Given the description of an element on the screen output the (x, y) to click on. 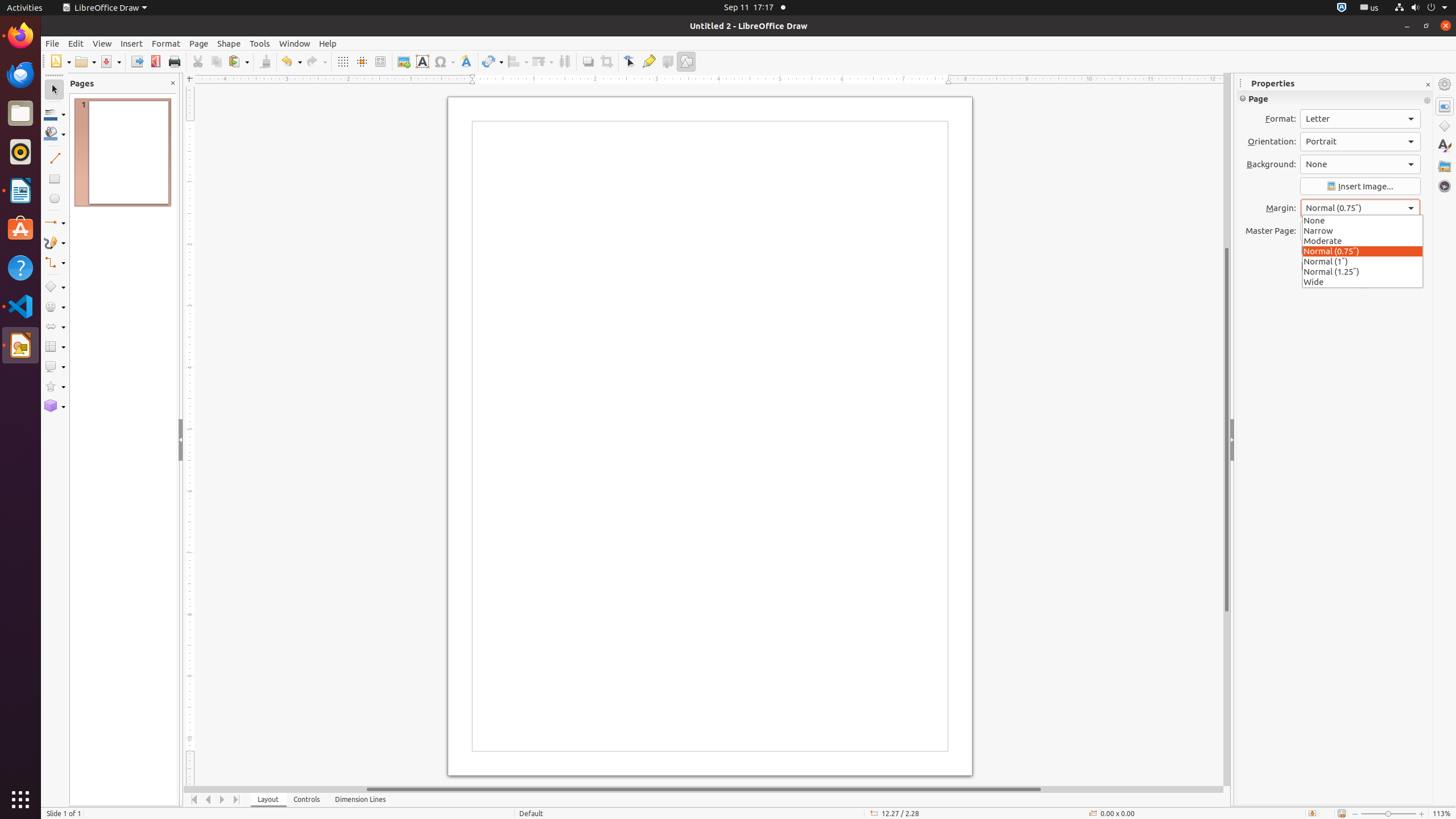
Moderate Element type: list-item (1362, 240)
System Element type: menu (1420, 7)
Print Element type: push-button (173, 61)
Styles Element type: radio-button (1444, 146)
Edit Points Element type: push-button (629, 61)
